Given the description of an element on the screen output the (x, y) to click on. 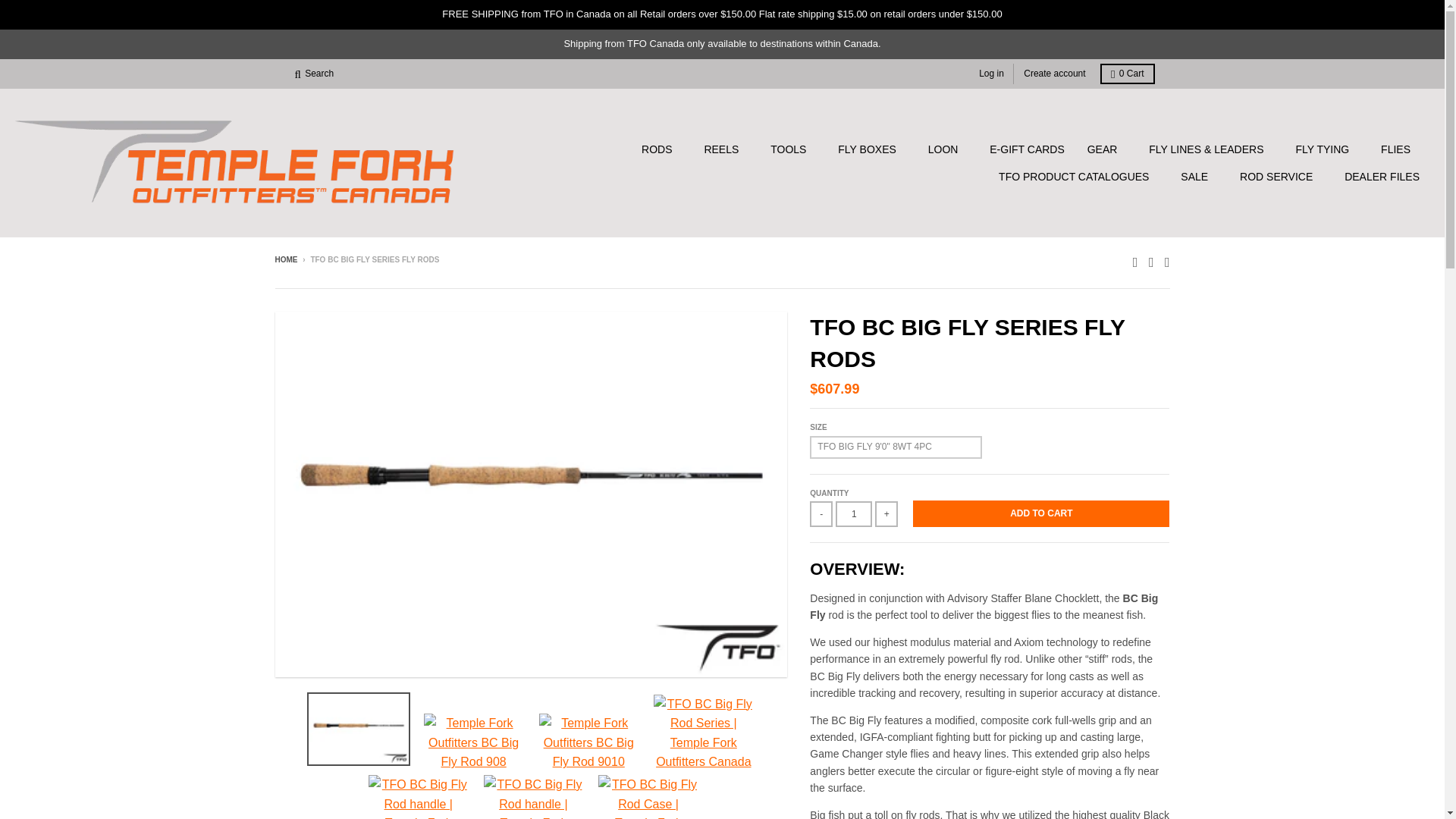
LOON (947, 148)
0 Cart (1127, 73)
Create account (1054, 73)
Log in (991, 73)
Temple Fork Outfitters Canada on Twitter (1135, 260)
Search (313, 73)
Back to the frontpage (286, 259)
Temple Fork Outfitters Canada on Facebook (1151, 260)
RODS (660, 148)
TOOLS (792, 148)
FLY BOXES (871, 148)
Temple Fork Outfitters Canada on Instagram (1167, 260)
1 (853, 514)
E-GIFT CARDS (1026, 148)
REELS (725, 148)
